Given the description of an element on the screen output the (x, y) to click on. 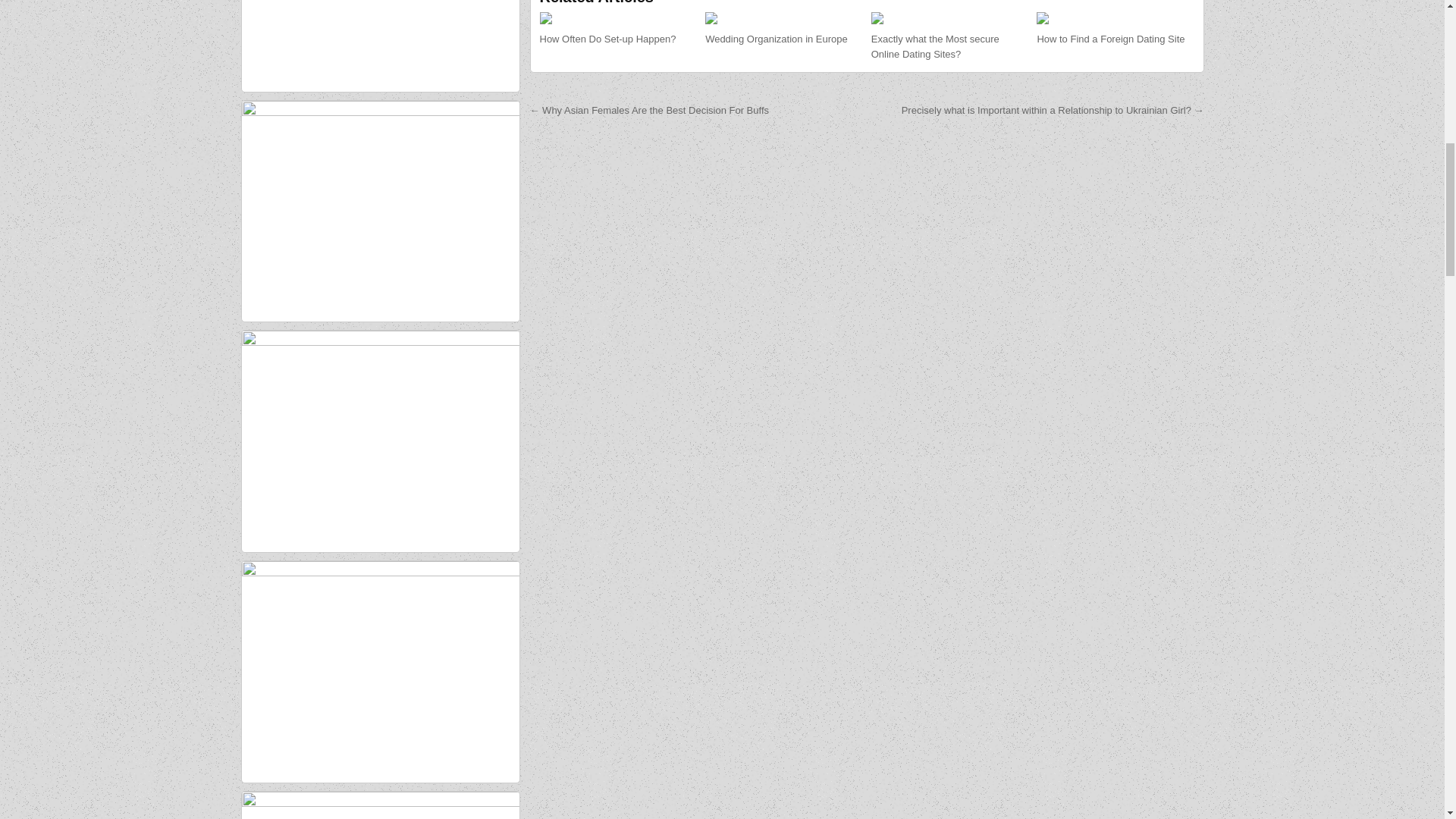
Exactly what the Most secure Online Dating Sites? (934, 46)
Permanent Link to How to Find a Foreign Dating Site (1114, 18)
Permanent Link to How Often Do Set-up Happen? (608, 39)
Permanent Link to Wedding Organization in Europe (782, 18)
Wedding Organization in Europe (775, 39)
How to Find a Foreign Dating Site (1110, 39)
Permanent Link to Wedding Organization in Europe (775, 39)
How Often Do Set-up Happen? (608, 39)
